Given the description of an element on the screen output the (x, y) to click on. 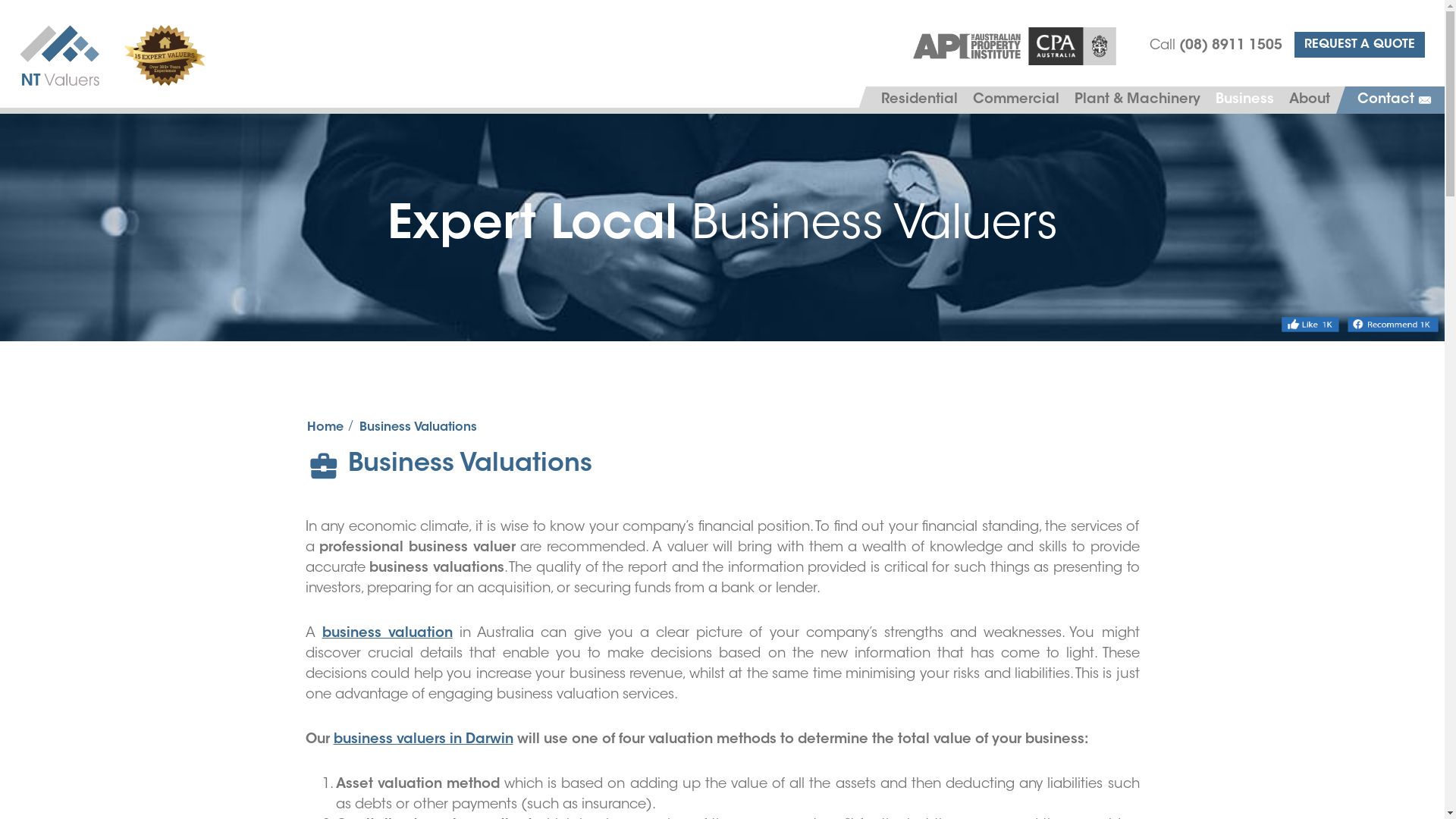
Residential Element type: text (919, 99)
Home Element type: text (324, 427)
About Element type: text (1309, 99)
Business Element type: text (1244, 99)
Plant & Machinery Element type: text (1137, 99)
business valuation Element type: text (387, 633)
Contact Element type: text (1394, 99)
Commercial Element type: text (1015, 99)
REQUEST A QUOTE Element type: text (1359, 44)
business valuers in Darwin Element type: text (423, 739)
Business Valuations Element type: text (417, 427)
